Given the description of an element on the screen output the (x, y) to click on. 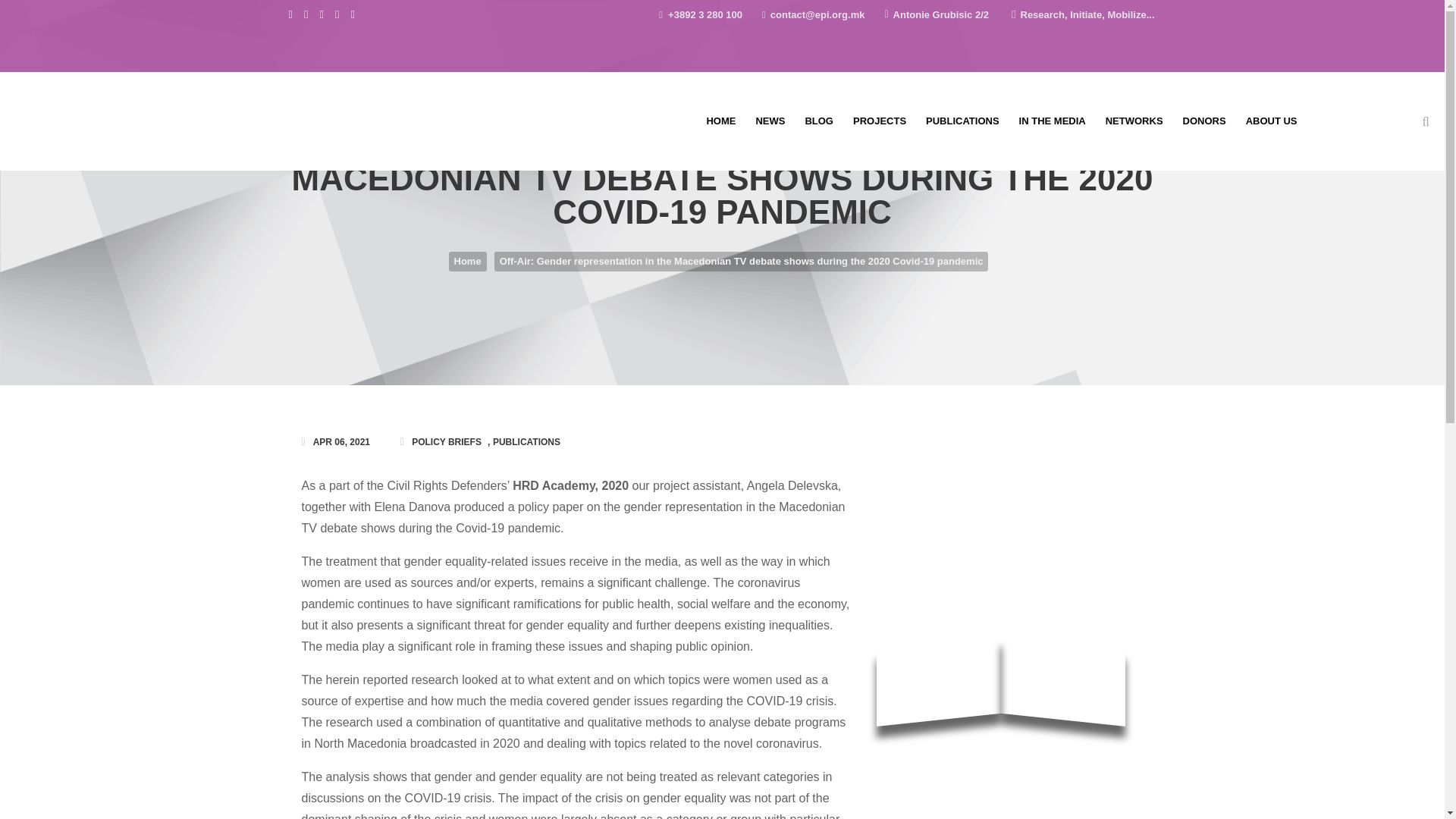
NEWS (769, 120)
IN THE MEDIA (1052, 120)
PROJECTS (879, 120)
PUBLICATIONS (962, 120)
DONORS (1204, 120)
BLOG (818, 120)
ABOUT US (1271, 120)
NETWORKS (1134, 120)
HOME (720, 120)
